Given the description of an element on the screen output the (x, y) to click on. 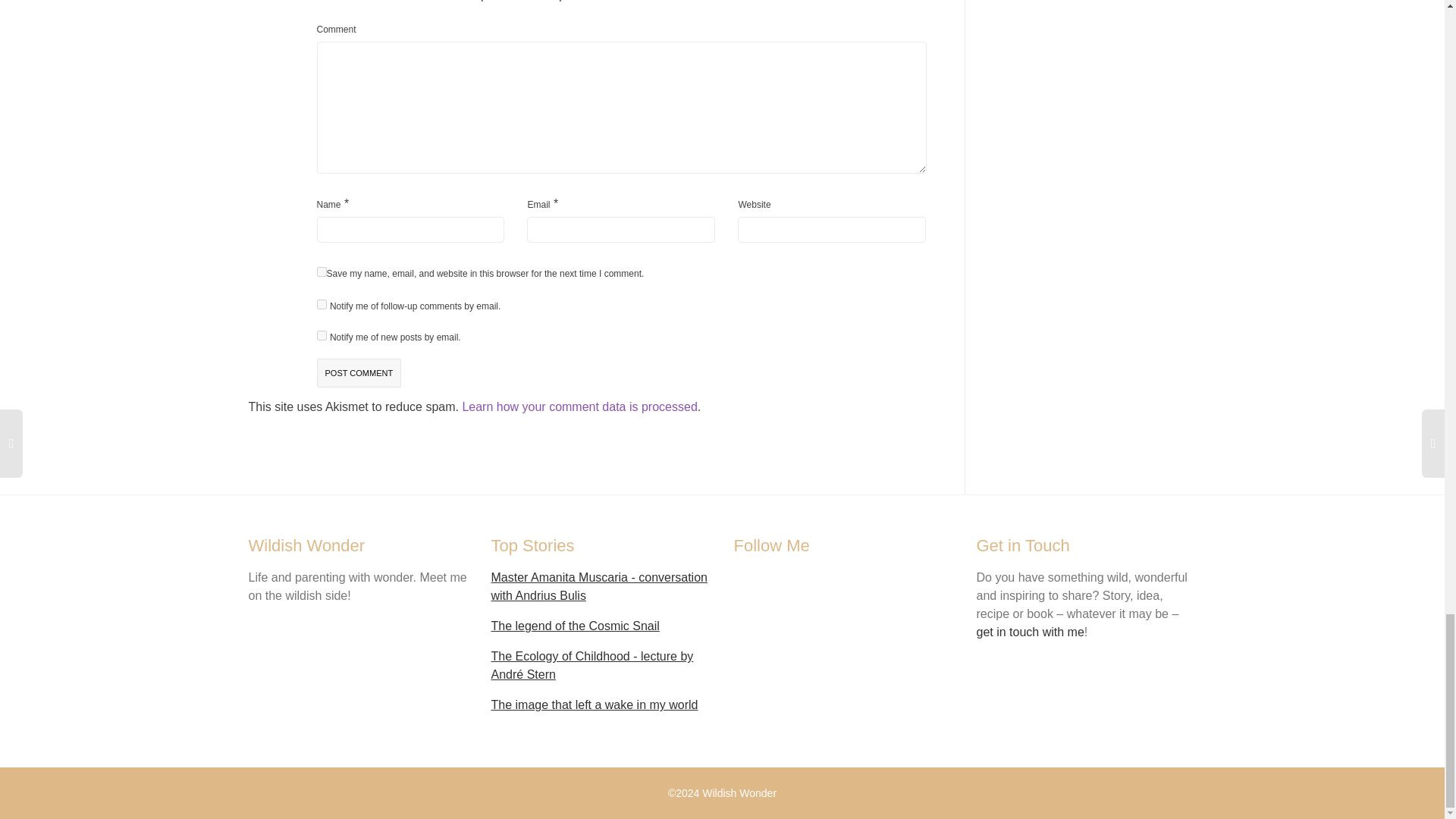
Post comment (359, 373)
yes (321, 271)
subscribe (321, 335)
subscribe (321, 304)
